Given the description of an element on the screen output the (x, y) to click on. 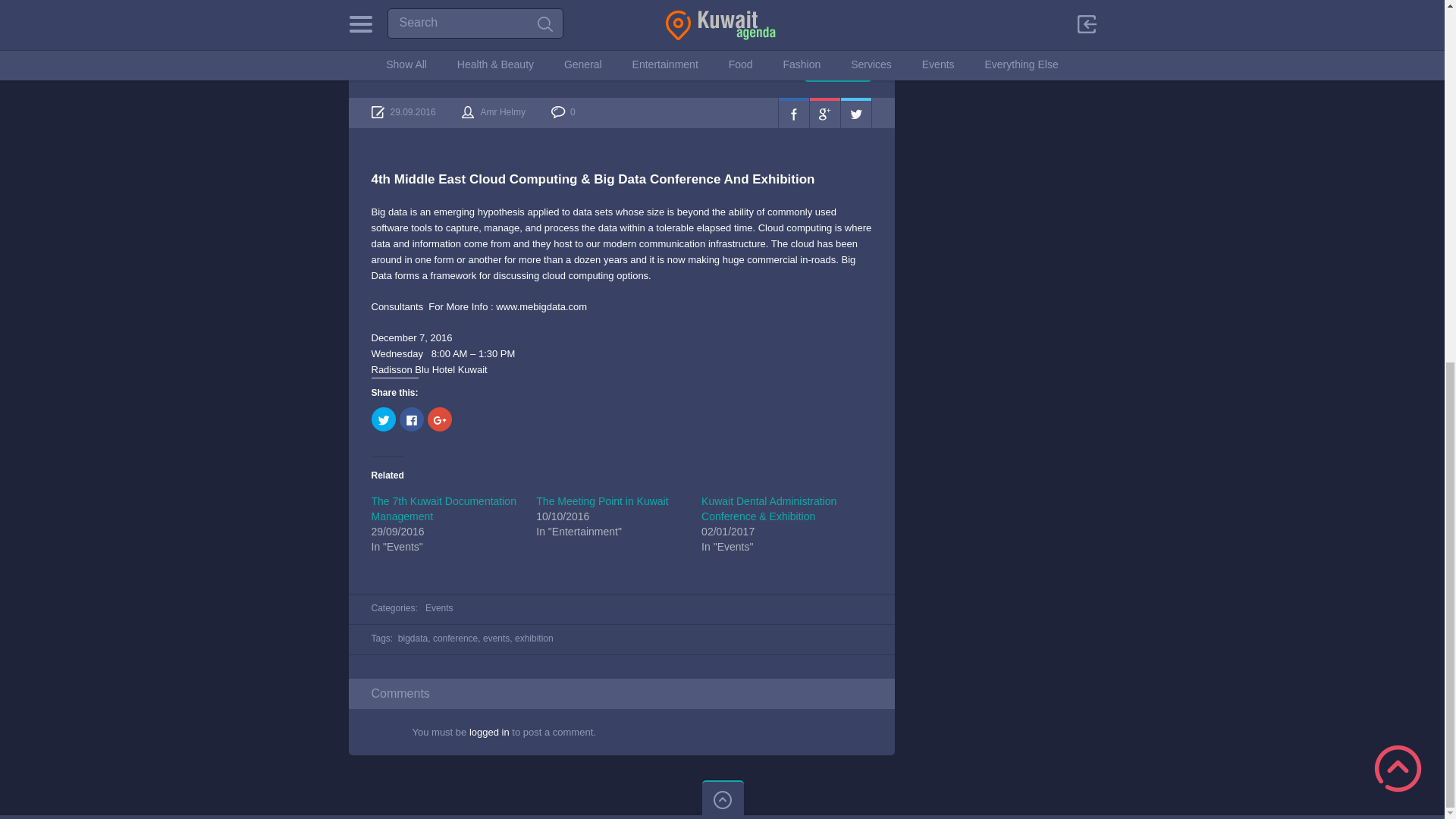
Share on Twitter (855, 112)
Twitter (855, 112)
Scroll to Top (1398, 122)
Click to share on Twitter (383, 419)
4th Middle East Cloud Computing (473, 68)
Posts by Amr Helmy (502, 112)
Total comments (563, 111)
Amr Helmy (502, 112)
The Meeting Point in Kuwait (601, 500)
Click to share on Facebook (410, 419)
Share on Facebook (792, 112)
Facebook (792, 112)
Bigdata (836, 69)
The 7th Kuwait Documentation Management (443, 508)
Post date (403, 111)
